Given the description of an element on the screen output the (x, y) to click on. 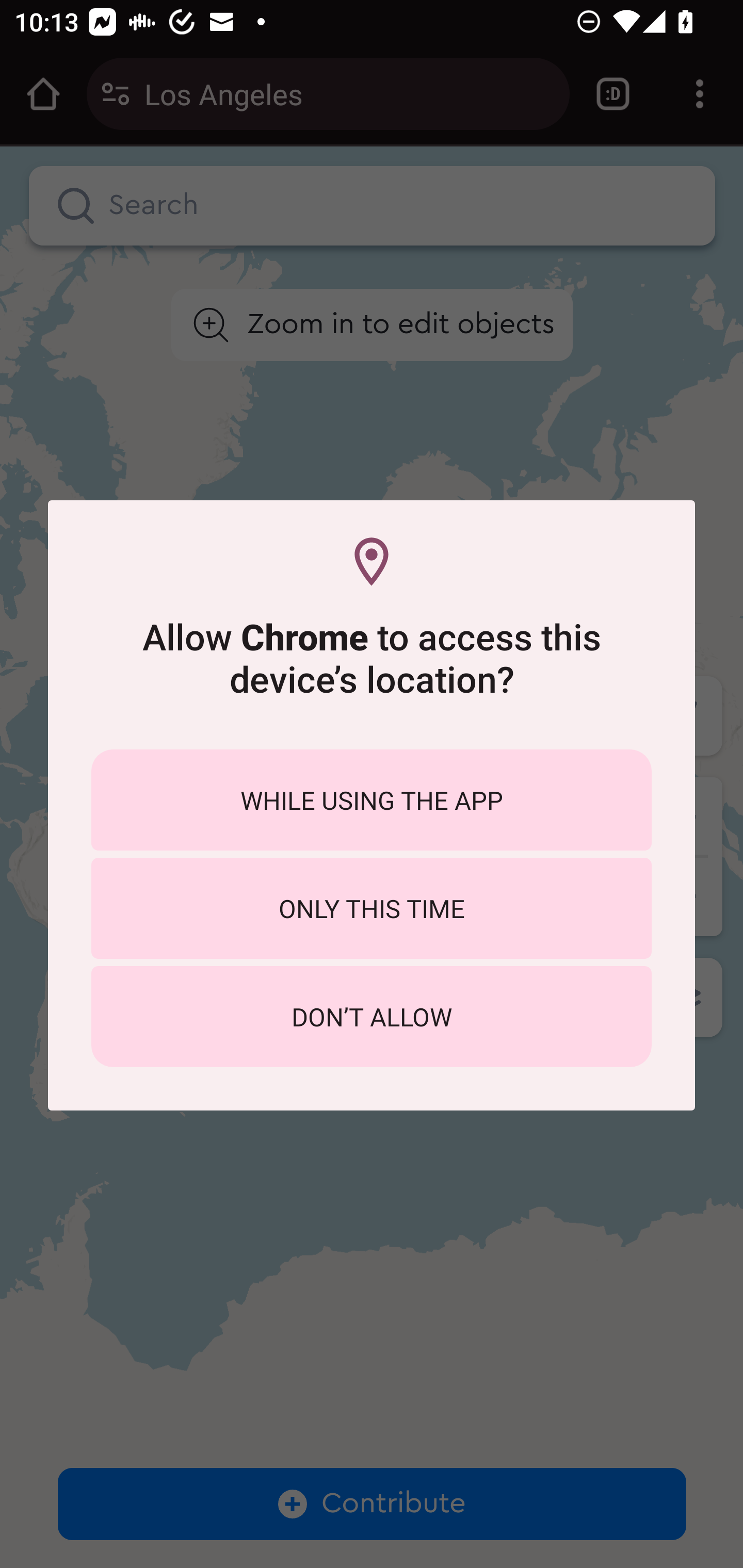
WHILE USING THE APP (371, 799)
ONLY THIS TIME (371, 908)
DON’T ALLOW (371, 1016)
